Given the description of an element on the screen output the (x, y) to click on. 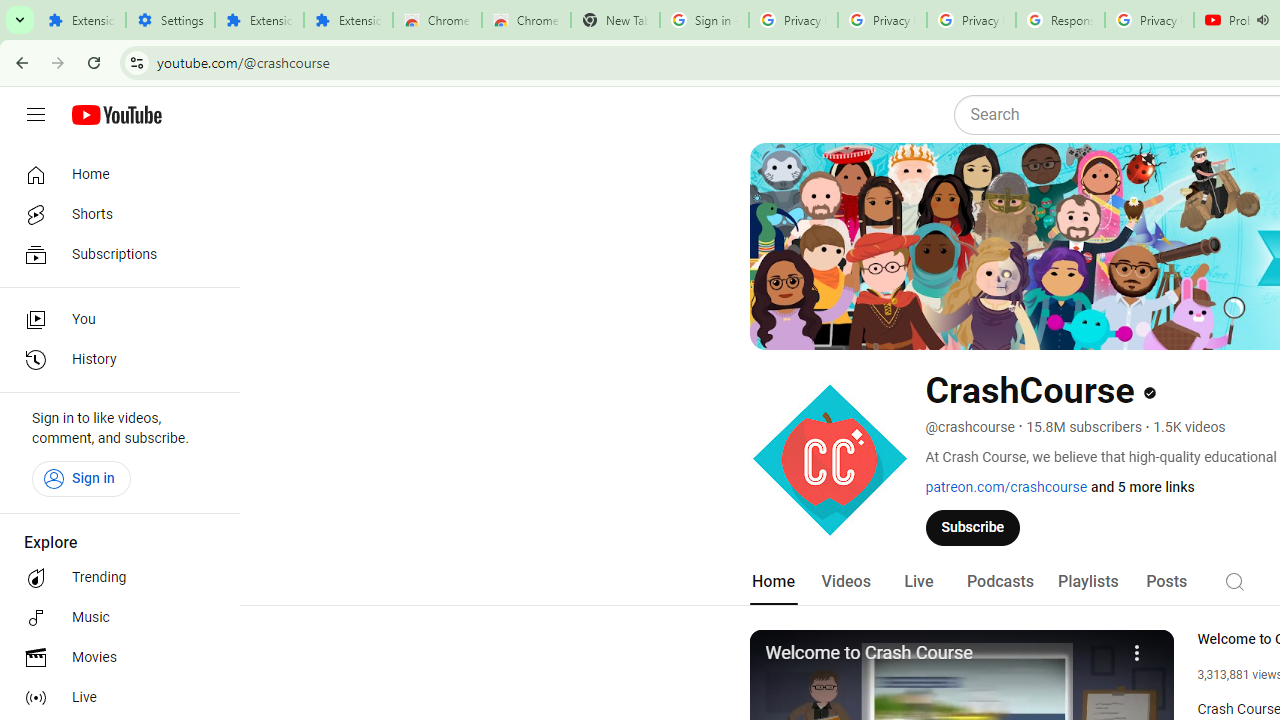
More (1137, 650)
History (113, 359)
Home (113, 174)
Live (918, 581)
System (10, 11)
Welcome to Crash Course (939, 654)
and 5 more links (1142, 487)
Music (113, 617)
Guide (35, 115)
You (113, 319)
Forward (57, 62)
Live (113, 697)
Videos (845, 581)
